Given the description of an element on the screen output the (x, y) to click on. 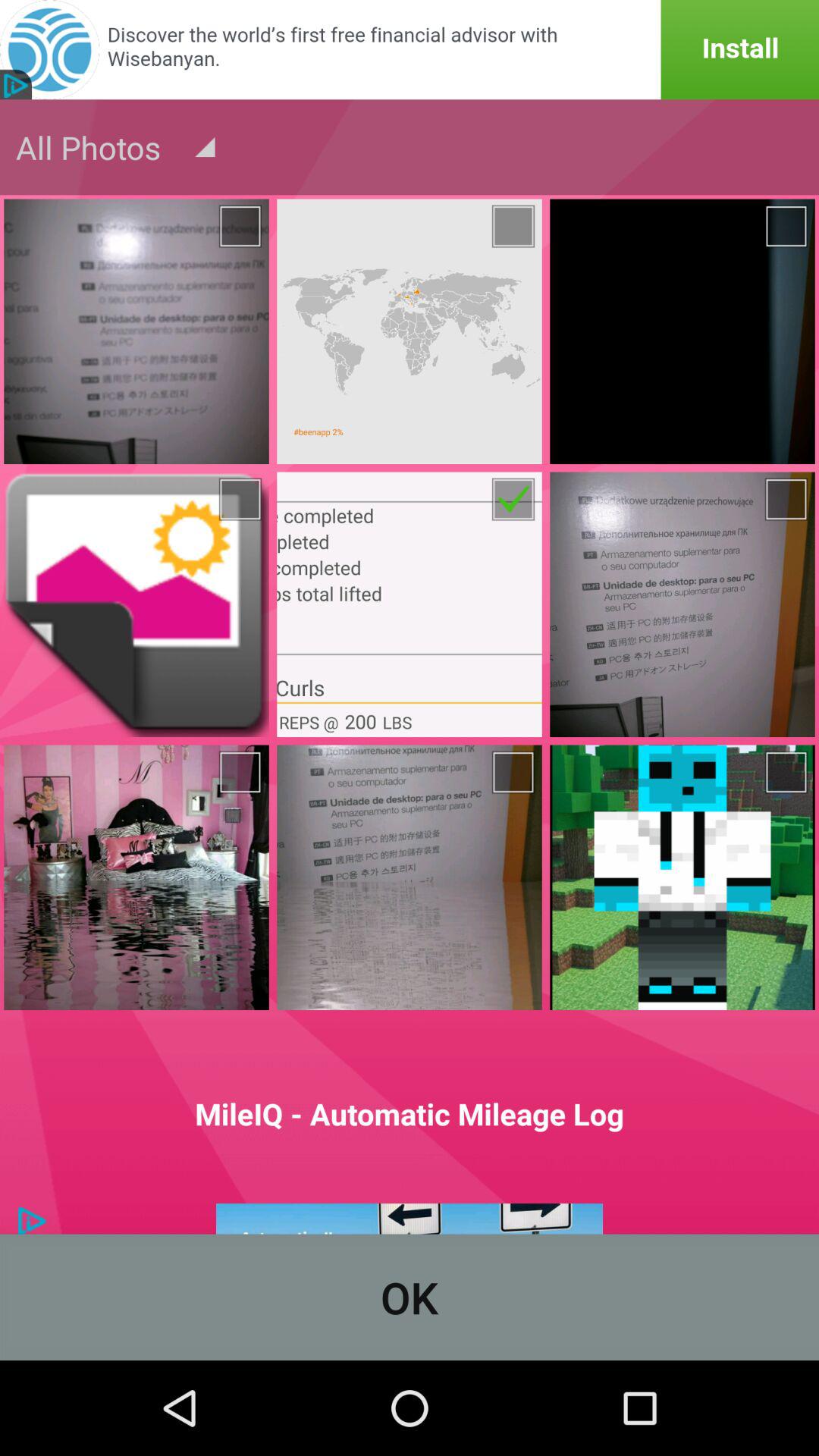
click the advertisements options (409, 1218)
